Given the description of an element on the screen output the (x, y) to click on. 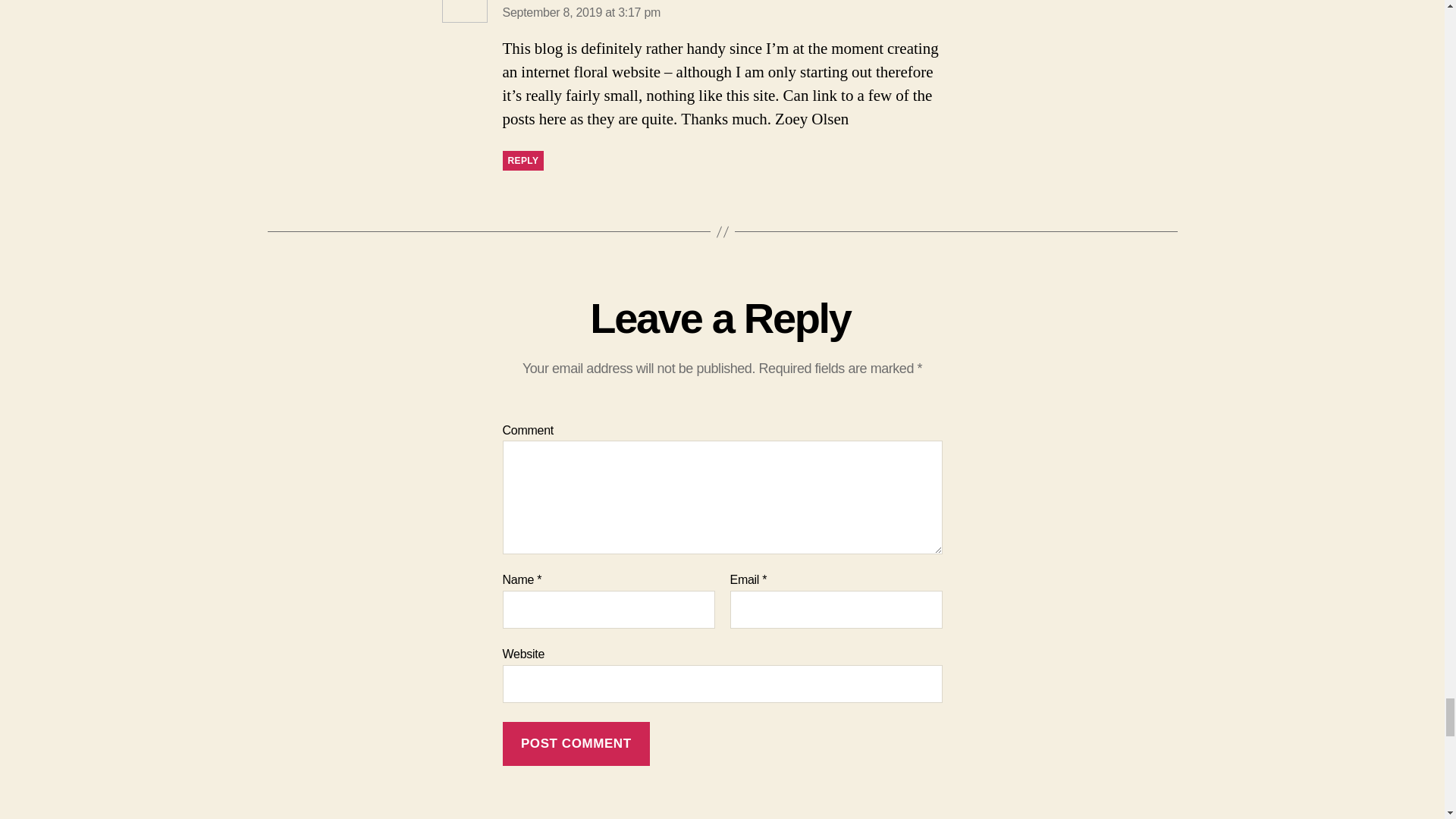
REPLY (522, 160)
Post Comment (575, 743)
September 8, 2019 at 3:17 pm (581, 11)
